Given the description of an element on the screen output the (x, y) to click on. 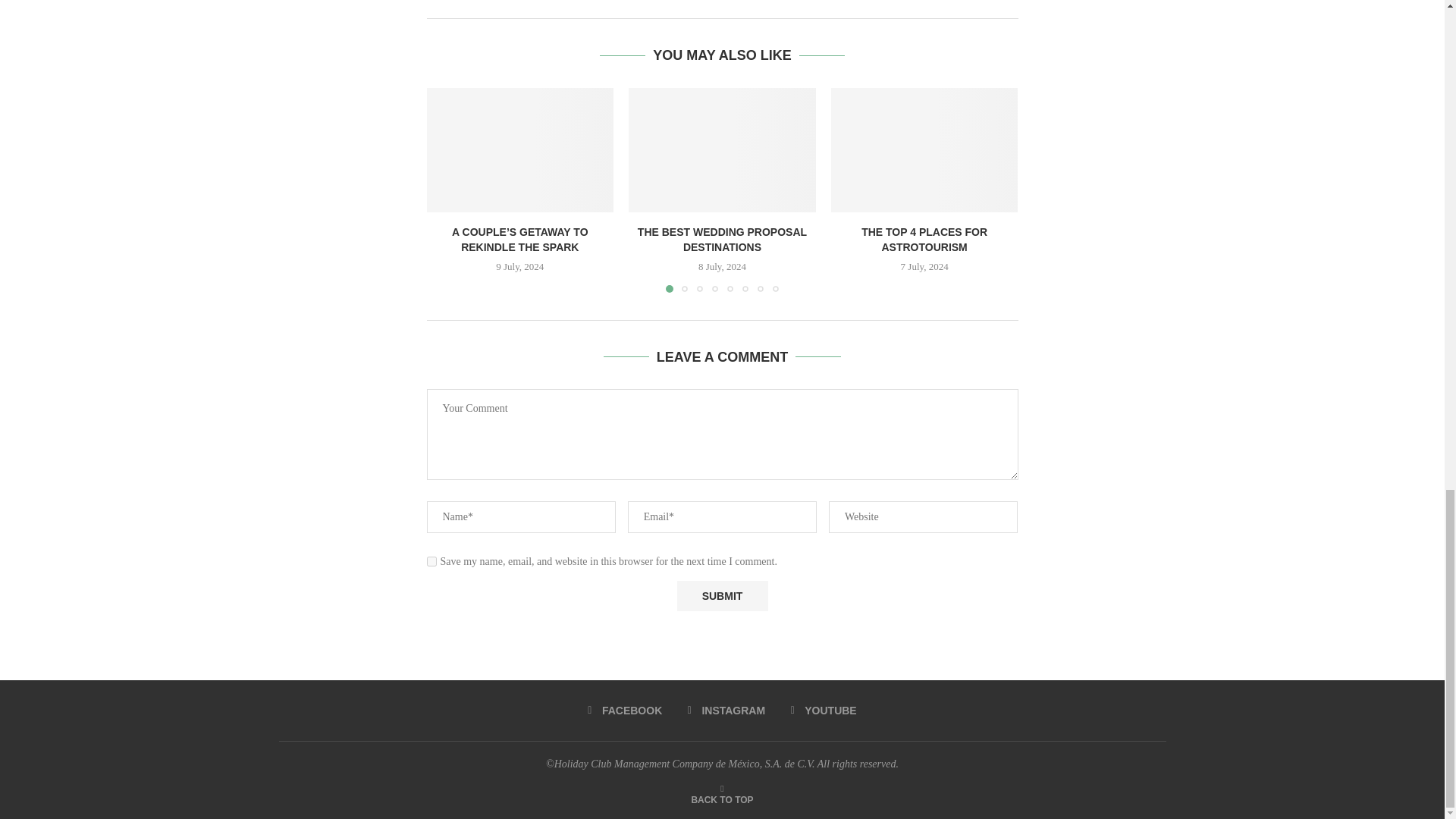
THE TOP 4 PLACES FOR ASTROTOURISM (924, 149)
Submit (722, 595)
THE BEST WEDDING PROPOSAL DESTINATIONS (721, 149)
yes (430, 561)
